Given the description of an element on the screen output the (x, y) to click on. 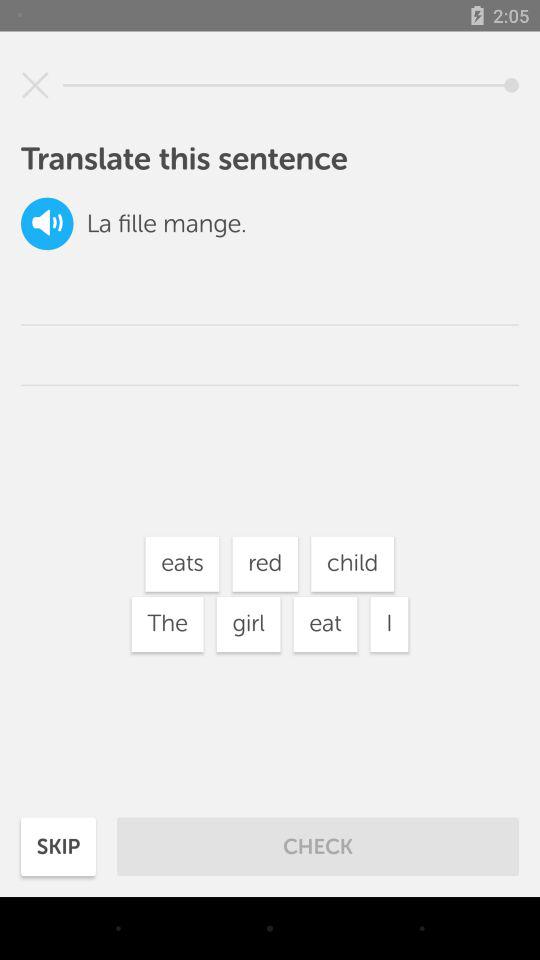
launch the icon to the left of girl icon (167, 624)
